Given the description of an element on the screen output the (x, y) to click on. 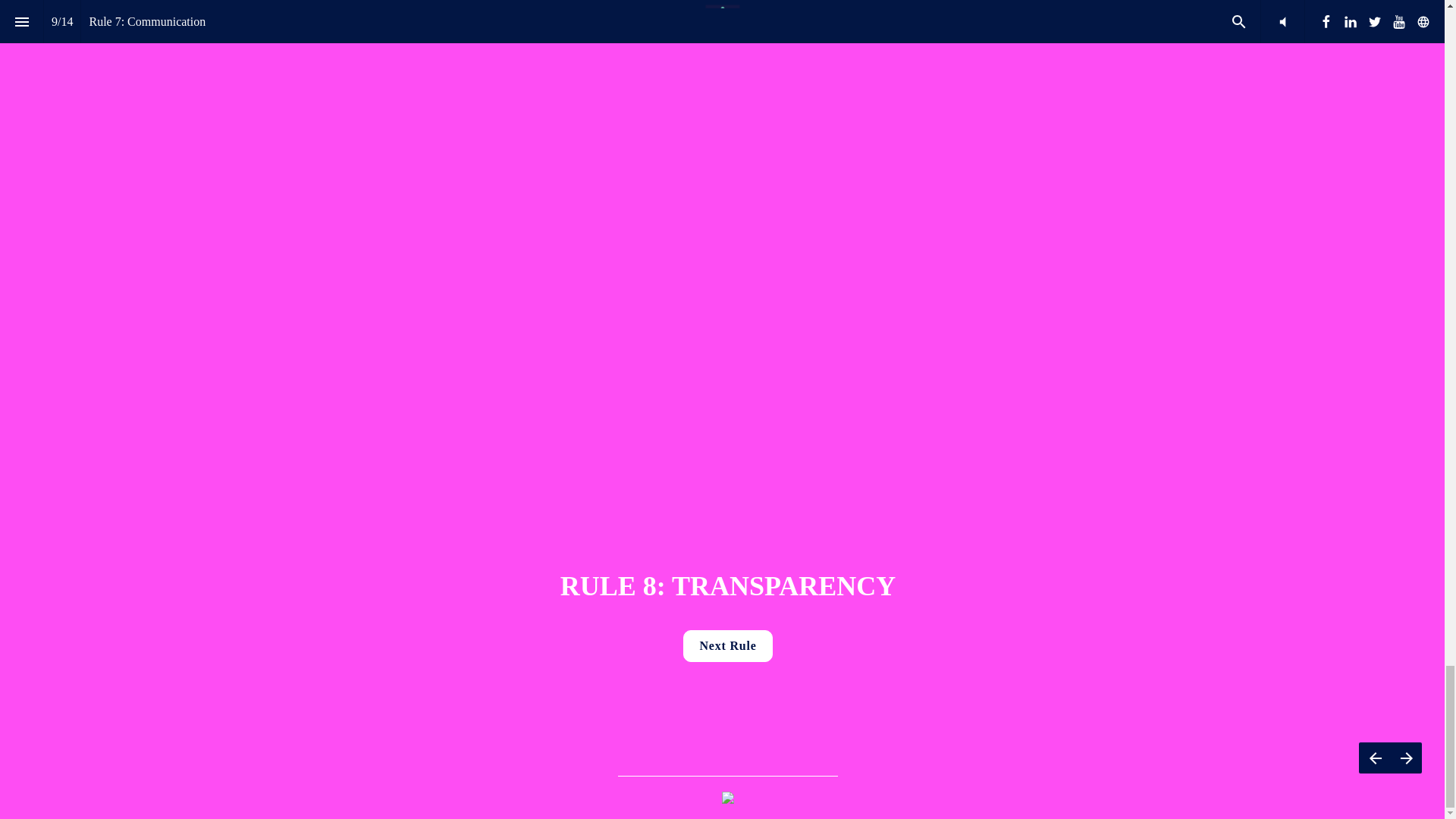
Next Rule (726, 645)
Yes, contact me! (789, 477)
